Given the description of an element on the screen output the (x, y) to click on. 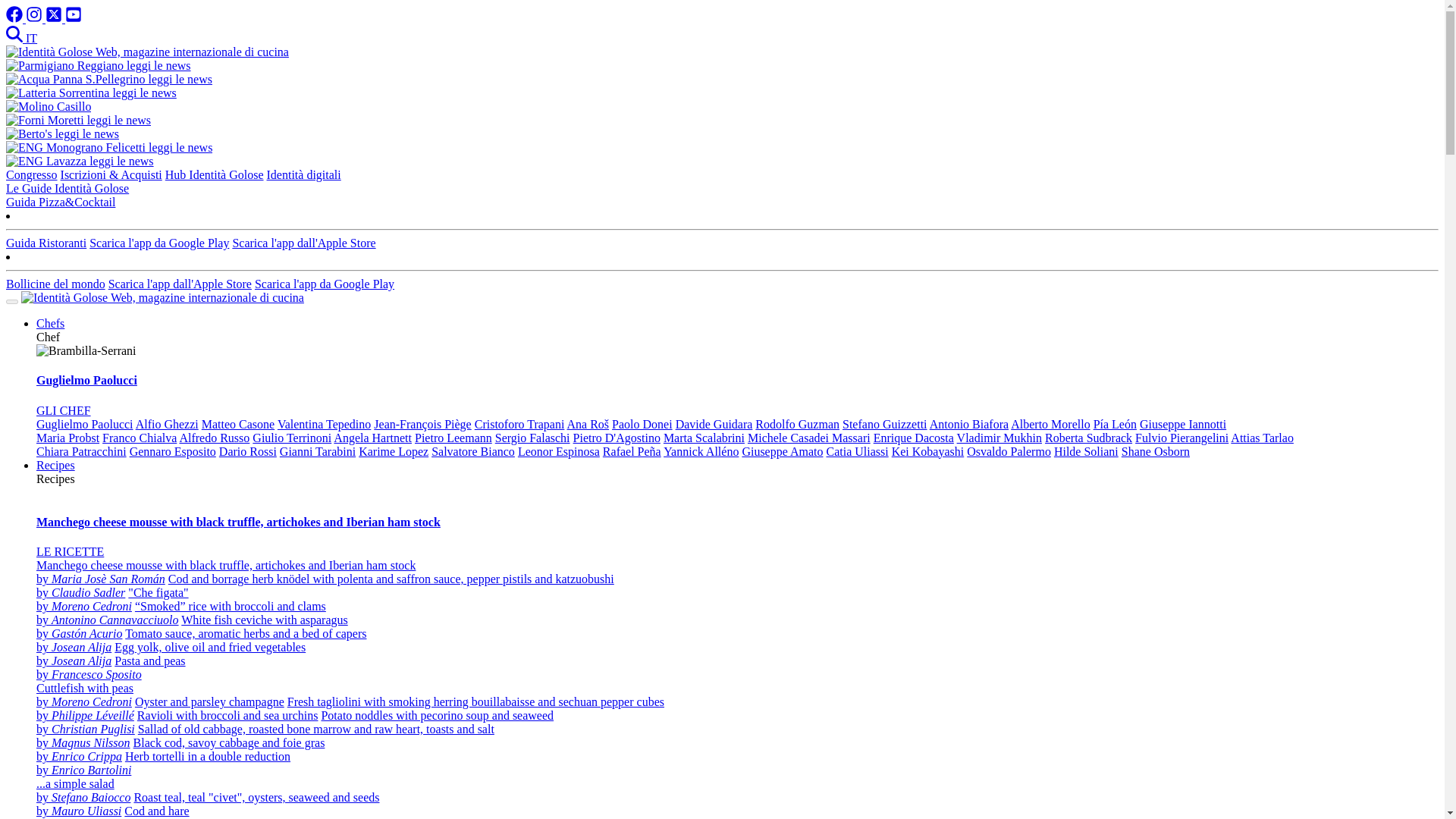
Scarica l'app dall'Apple Store (179, 283)
Berto's leggi le news (62, 133)
Congresso (31, 174)
App Bollicine del mondo (54, 283)
Instagram (35, 18)
Parmigiano Reggiano leggi le news (97, 65)
Italiano (31, 38)
Forni Moretti leggi le news (78, 119)
IT (31, 38)
Facebook (15, 18)
Scarica l'app da Google Play (158, 242)
App Bollicine del mondo - Apple (179, 283)
Scarica l'app dall'Apple Store (303, 242)
Valentina Tepedino (324, 423)
Molino Casillo (47, 106)
